Given the description of an element on the screen output the (x, y) to click on. 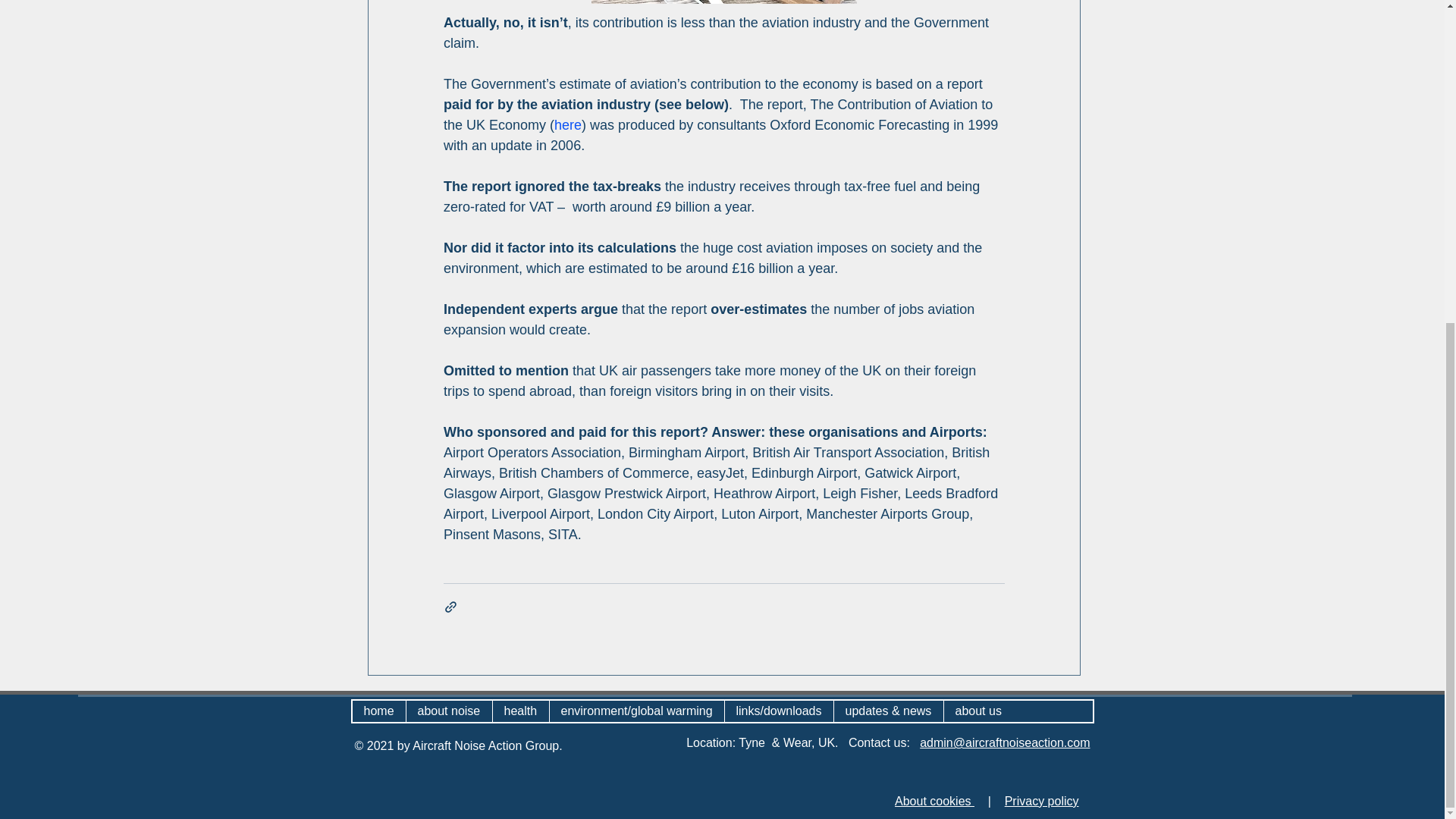
home (378, 711)
health (520, 711)
here (567, 124)
